Given the description of an element on the screen output the (x, y) to click on. 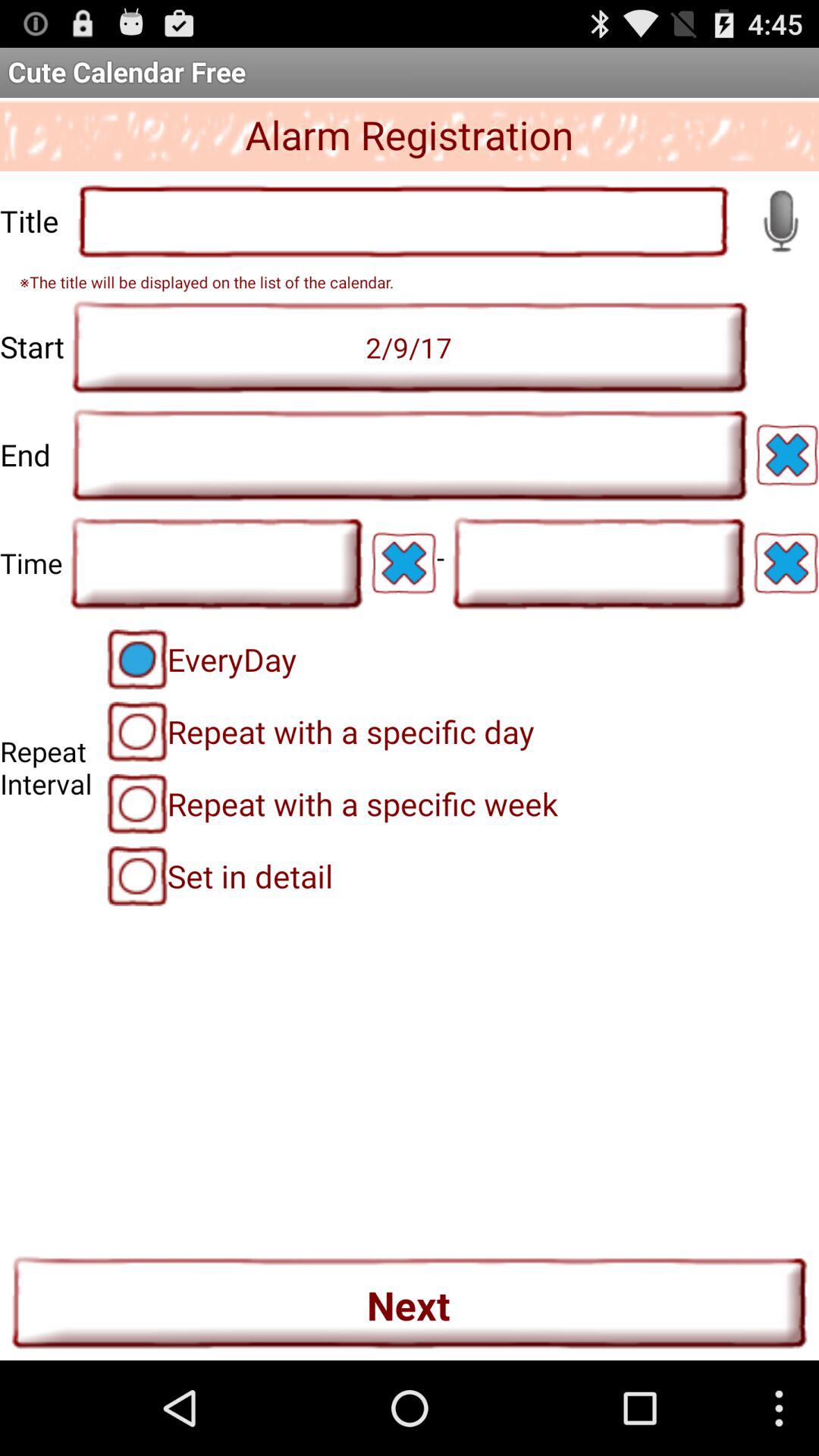
turn off the everyday radio button (201, 659)
